Given the description of an element on the screen output the (x, y) to click on. 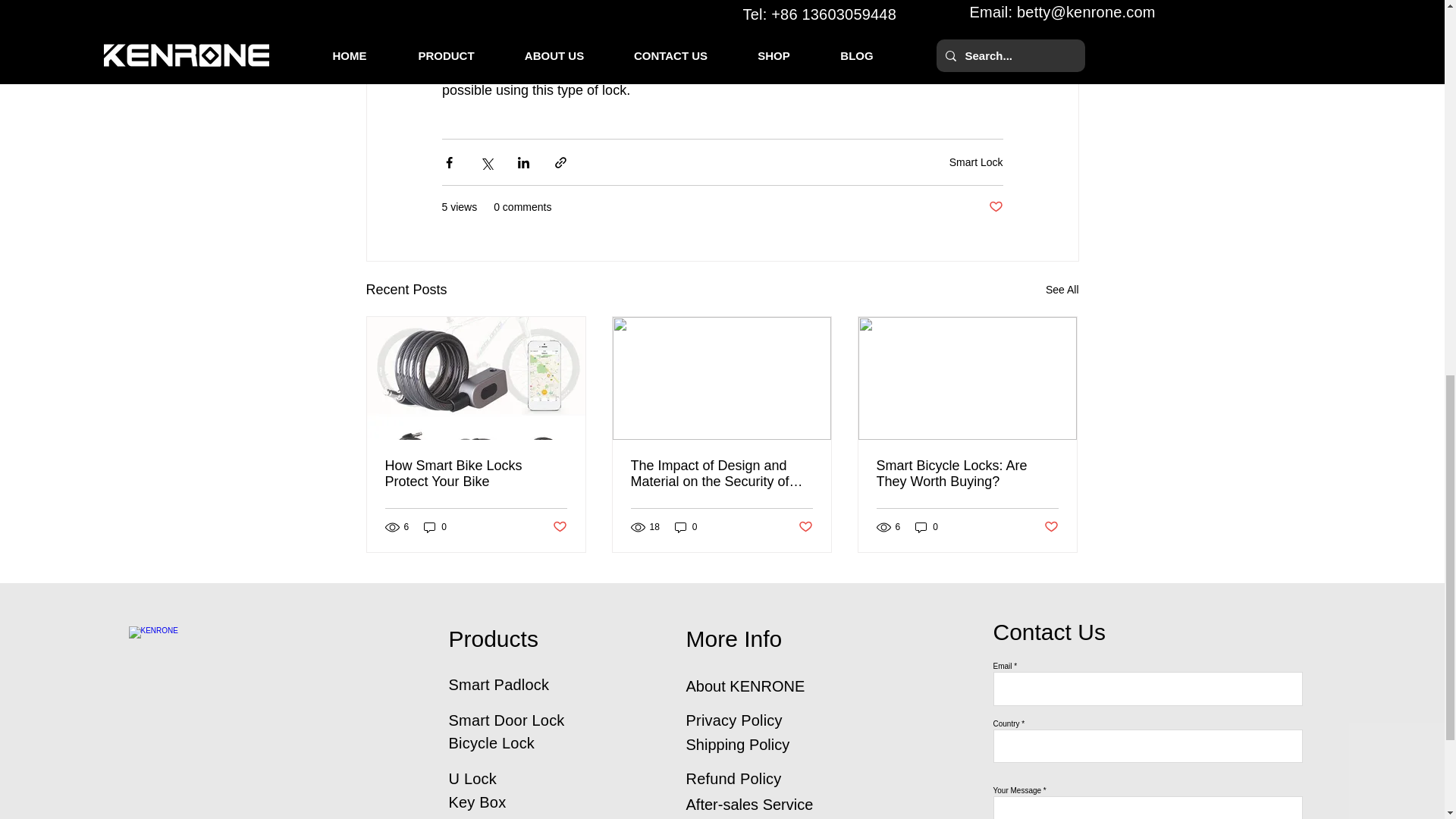
How Smart Bike Locks Protect Your Bike (476, 473)
0 (435, 527)
See All (1061, 290)
0 (685, 527)
Post not marked as liked (558, 526)
Post not marked as liked (995, 207)
Smart Lock (976, 162)
